Given the description of an element on the screen output the (x, y) to click on. 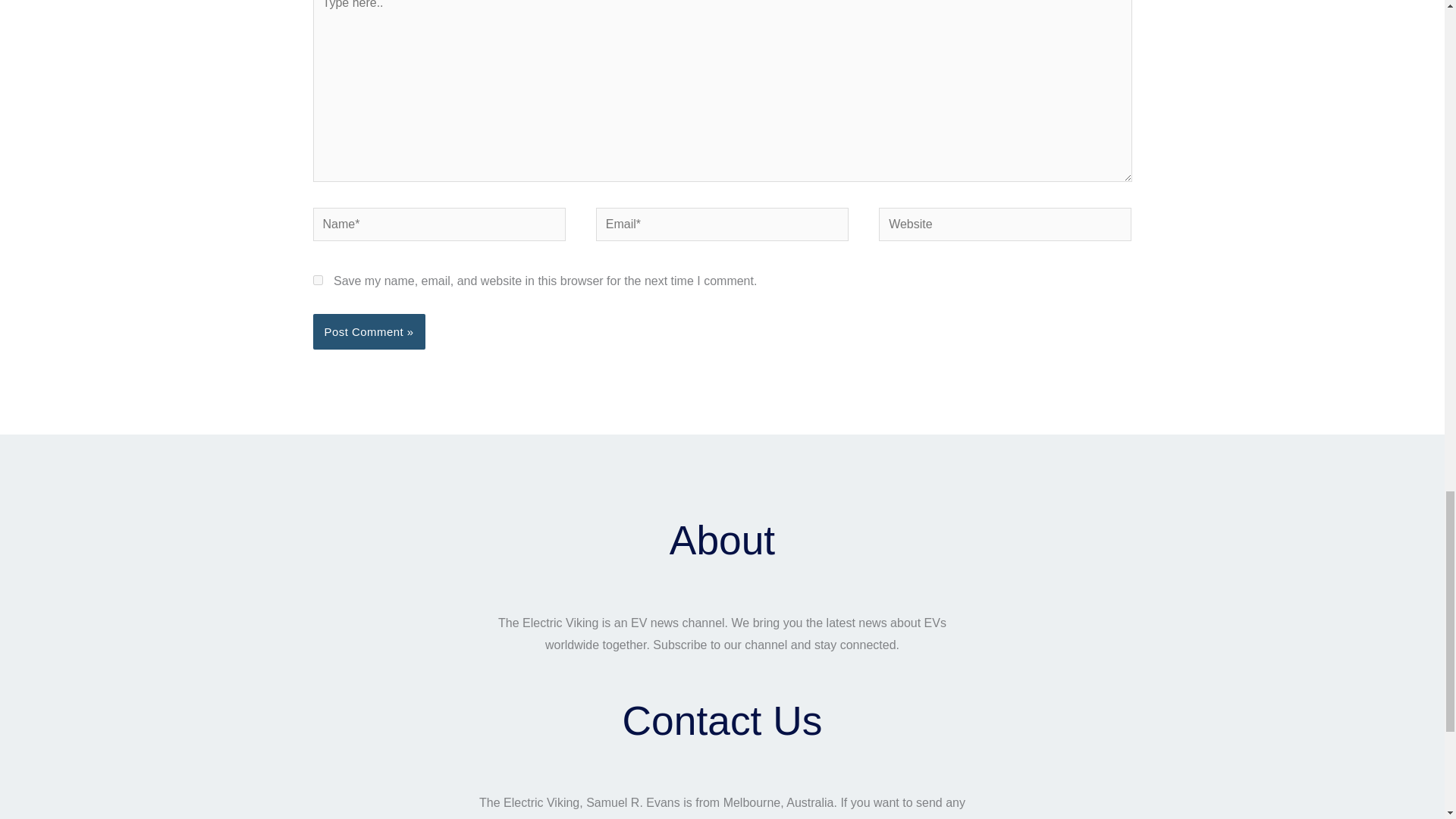
yes (317, 280)
